Given the description of an element on the screen output the (x, y) to click on. 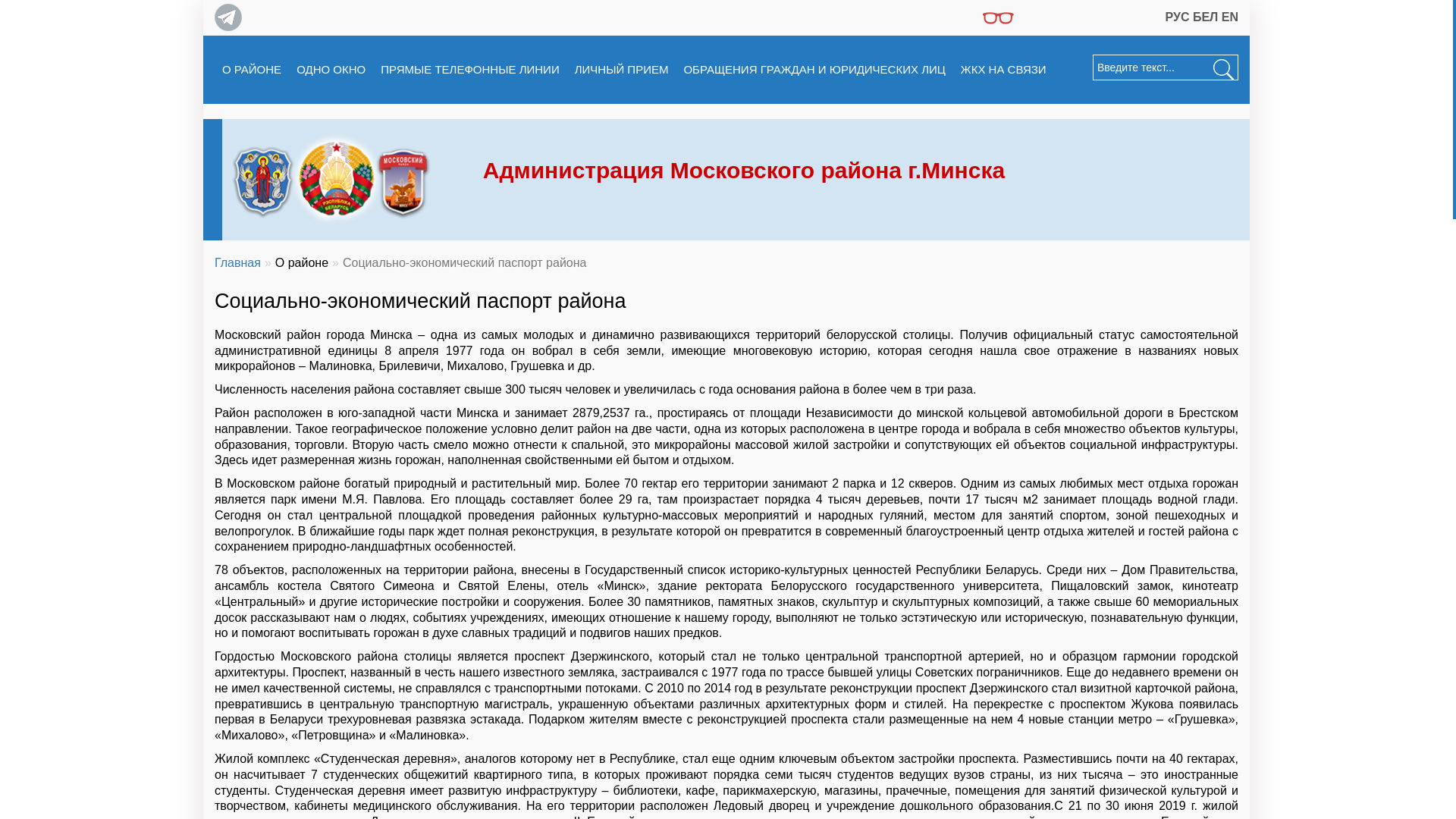
EN Element type: text (1229, 16)
